Given the description of an element on the screen output the (x, y) to click on. 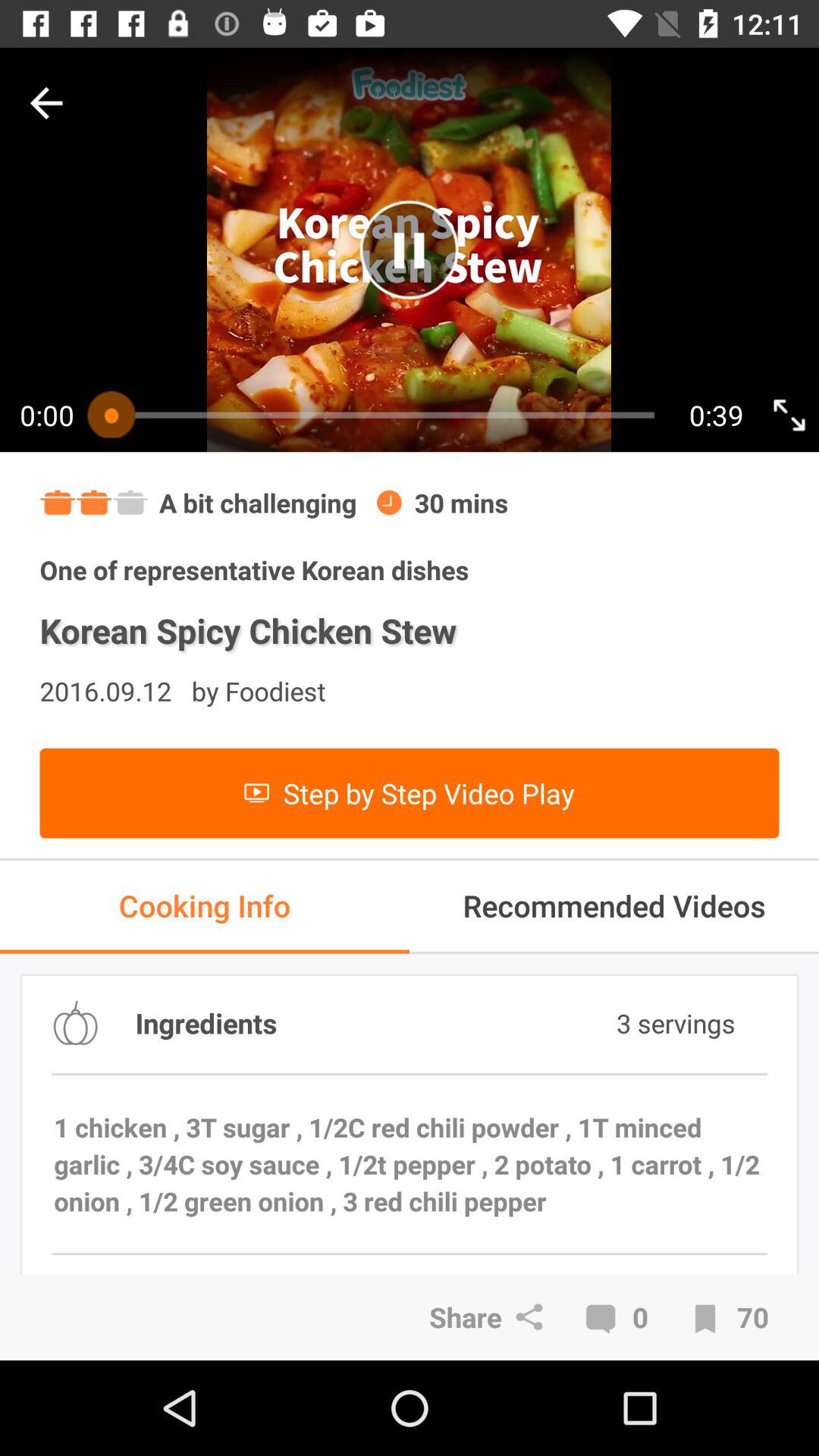
go full screen (789, 414)
